Given the description of an element on the screen output the (x, y) to click on. 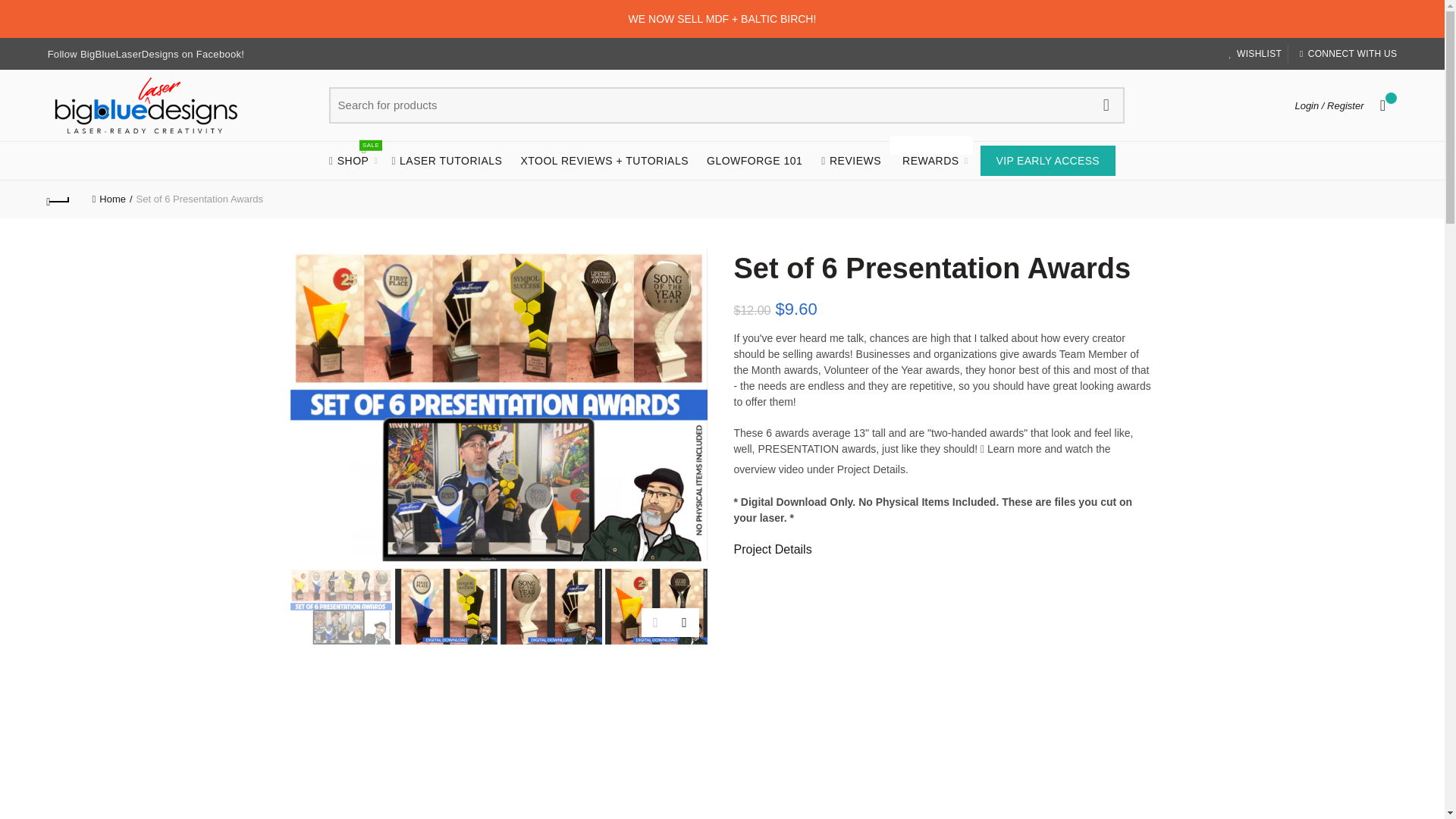
CONNECT WITH US (1347, 53)
WISHLIST (1254, 53)
Set of 6 Presentation Awards (497, 404)
Follow BigBlueLaserDesigns on Facebook! (146, 53)
